Given the description of an element on the screen output the (x, y) to click on. 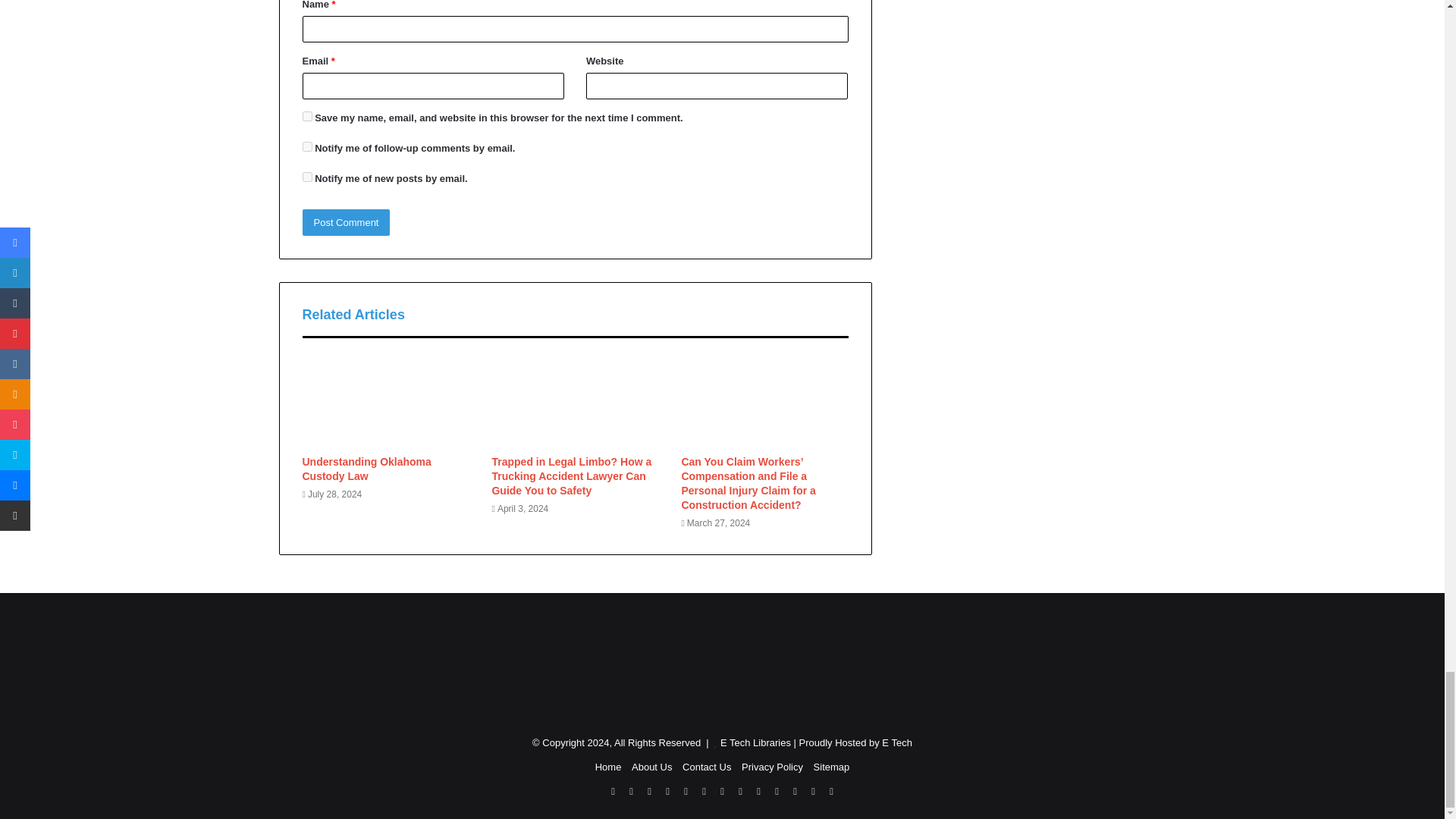
subscribe (306, 176)
yes (306, 116)
Post Comment (345, 222)
subscribe (306, 146)
